Given the description of an element on the screen output the (x, y) to click on. 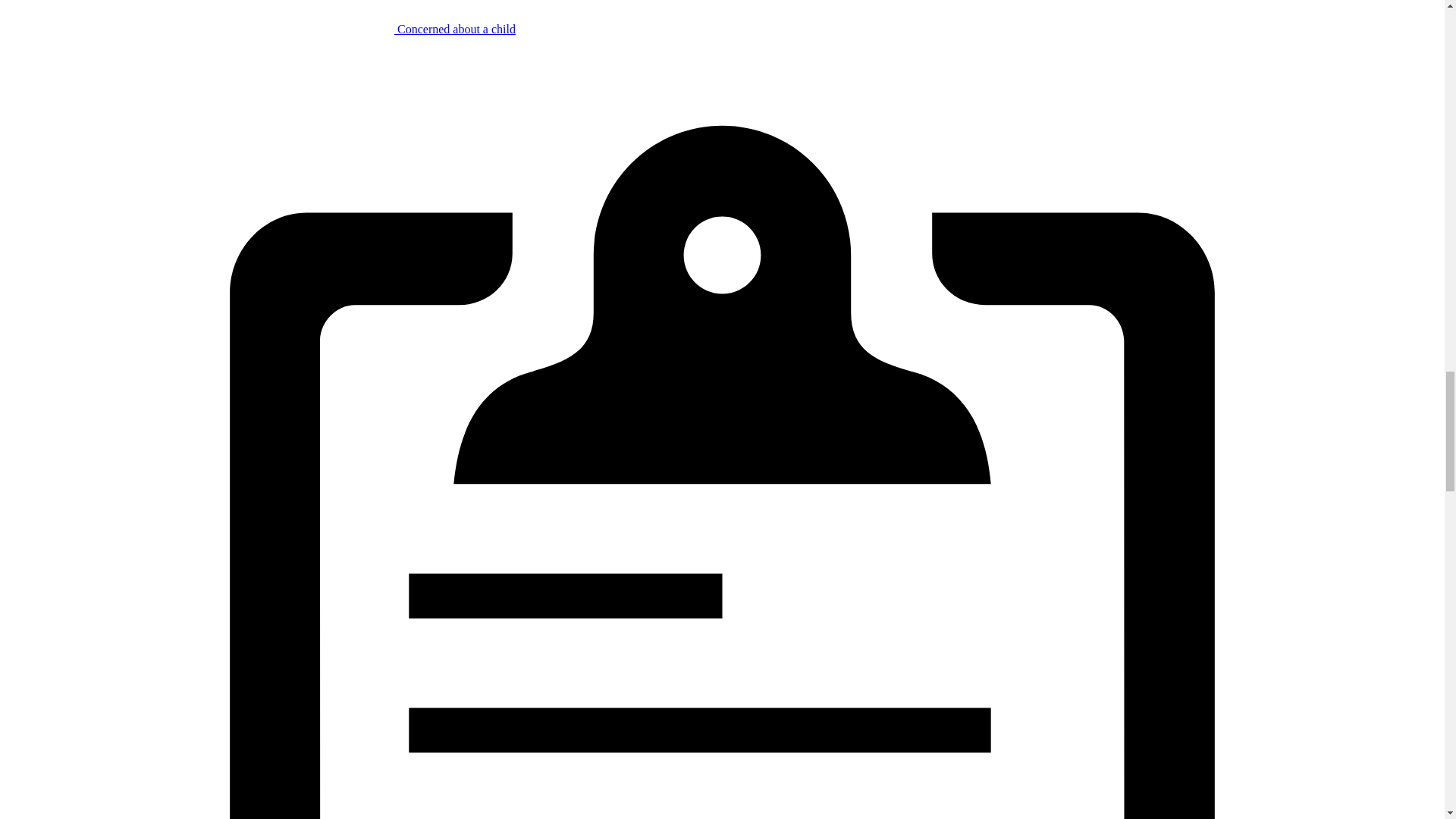
Concerned about a child (260, 29)
